Given the description of an element on the screen output the (x, y) to click on. 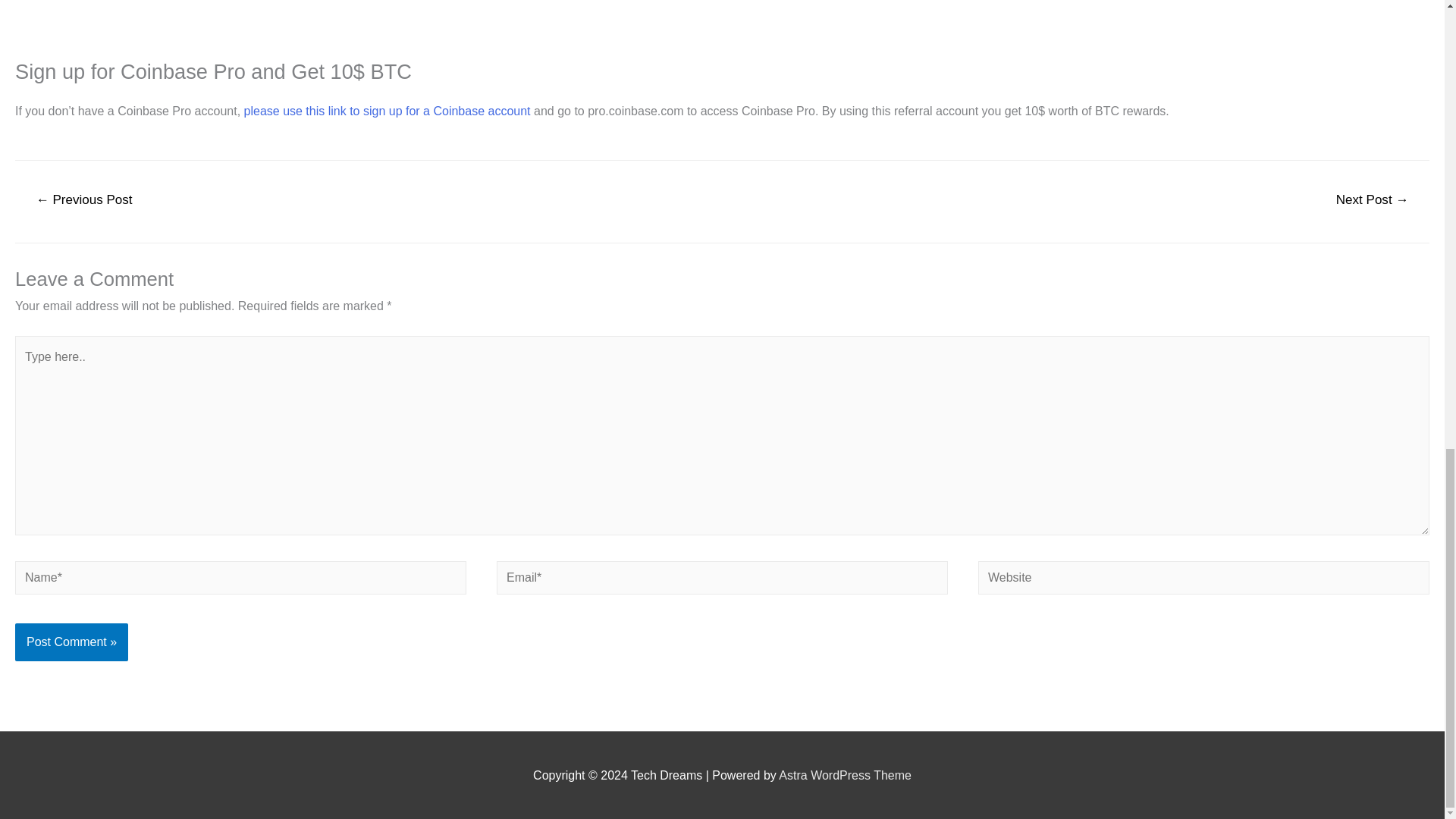
please use this link to sign up for a Coinbase account (387, 110)
Advertisement (469, 26)
Astra WordPress Theme (844, 775)
